Given the description of an element on the screen output the (x, y) to click on. 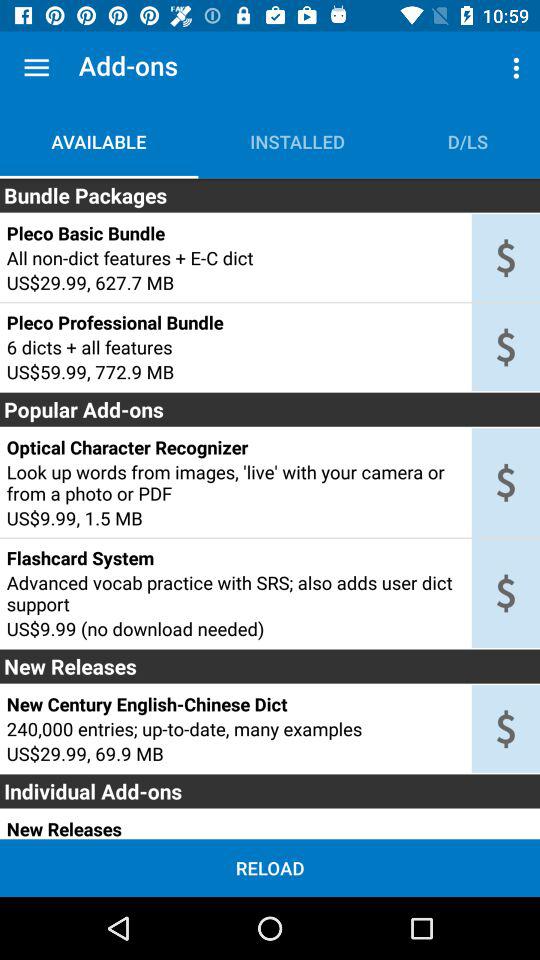
launch item next to the available item (297, 141)
